Given the description of an element on the screen output the (x, y) to click on. 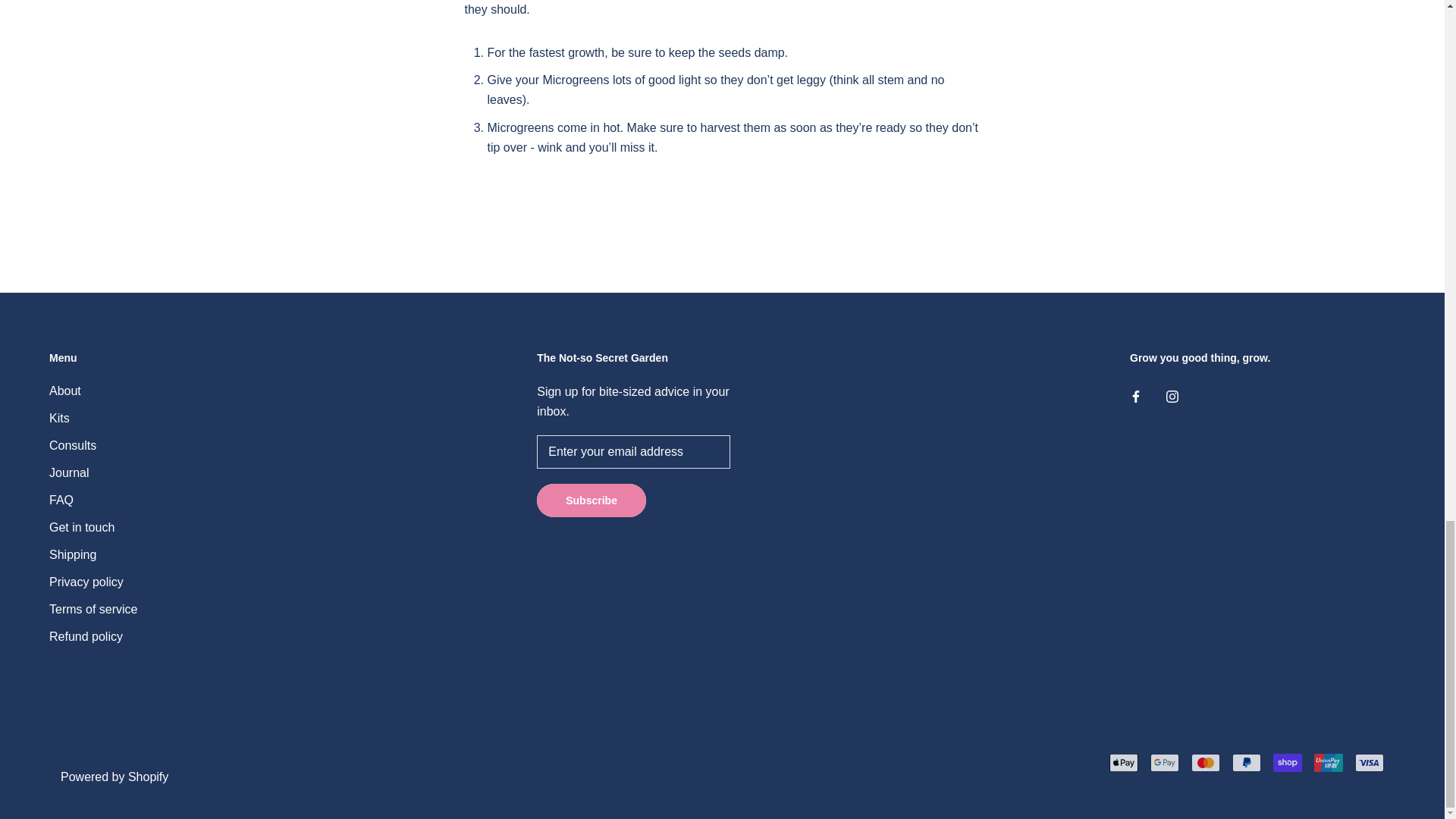
Visa (1369, 762)
Union Pay (1328, 762)
Apple Pay (1123, 762)
Consults (92, 445)
Journal (92, 473)
Shop Pay (1286, 762)
Terms of service (92, 609)
Get in touch (92, 527)
FAQ (92, 500)
Google Pay (1164, 762)
